Given the description of an element on the screen output the (x, y) to click on. 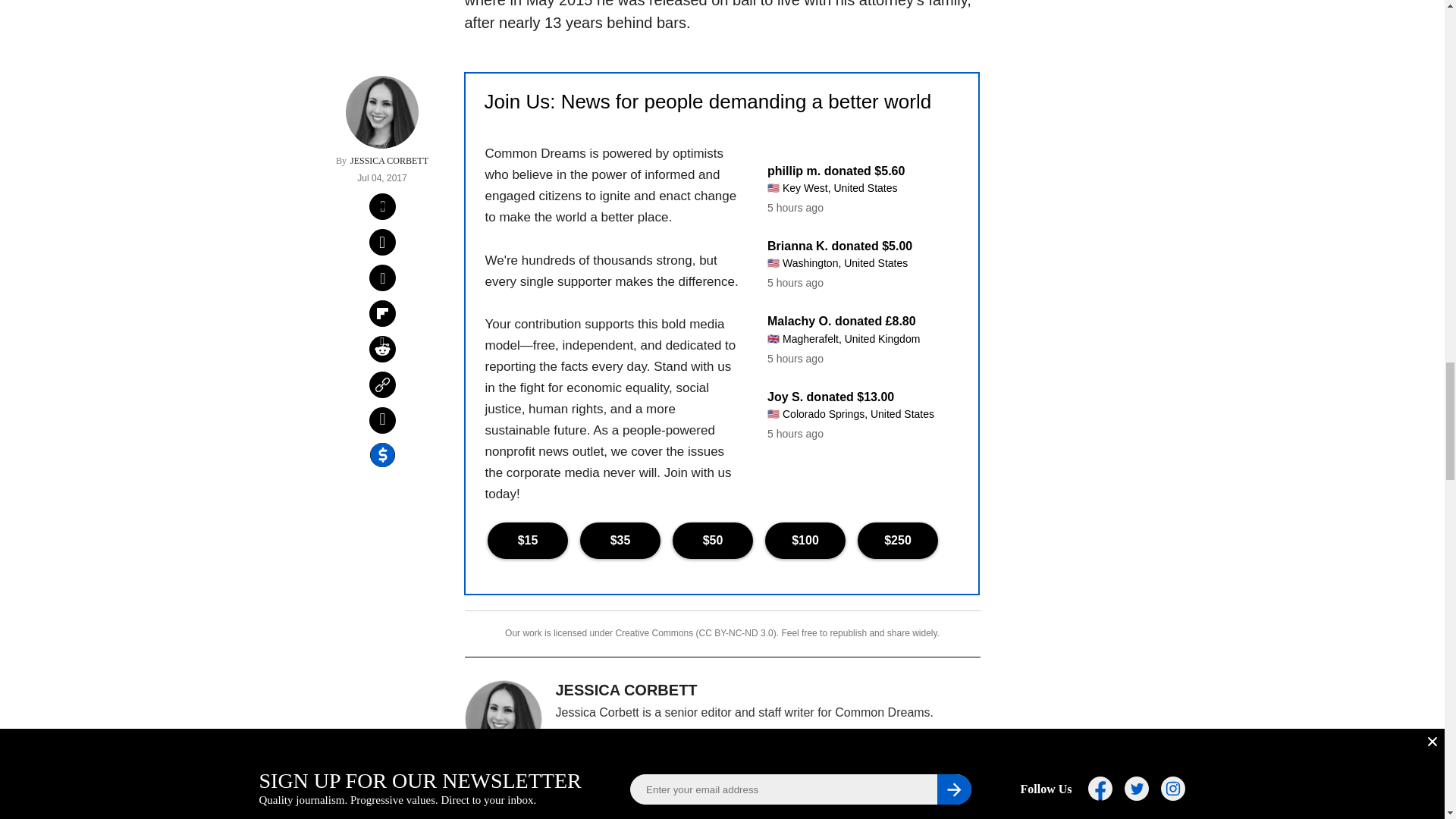
Donate Button Group (721, 540)
